Given the description of an element on the screen output the (x, y) to click on. 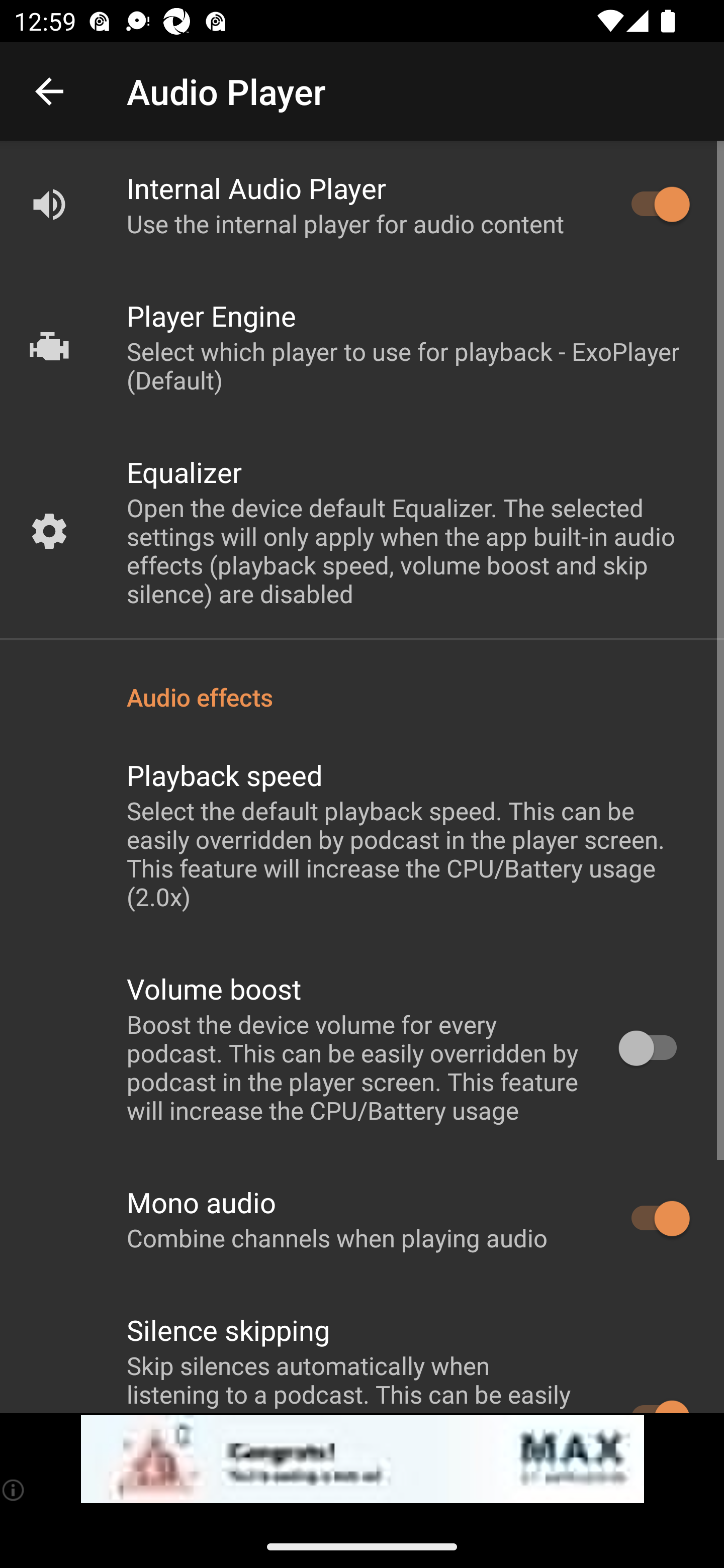
Navigate up (49, 91)
Mono audio Combine channels when playing audio (362, 1218)
app-monetization (362, 1459)
(i) (14, 1489)
